Given the description of an element on the screen output the (x, y) to click on. 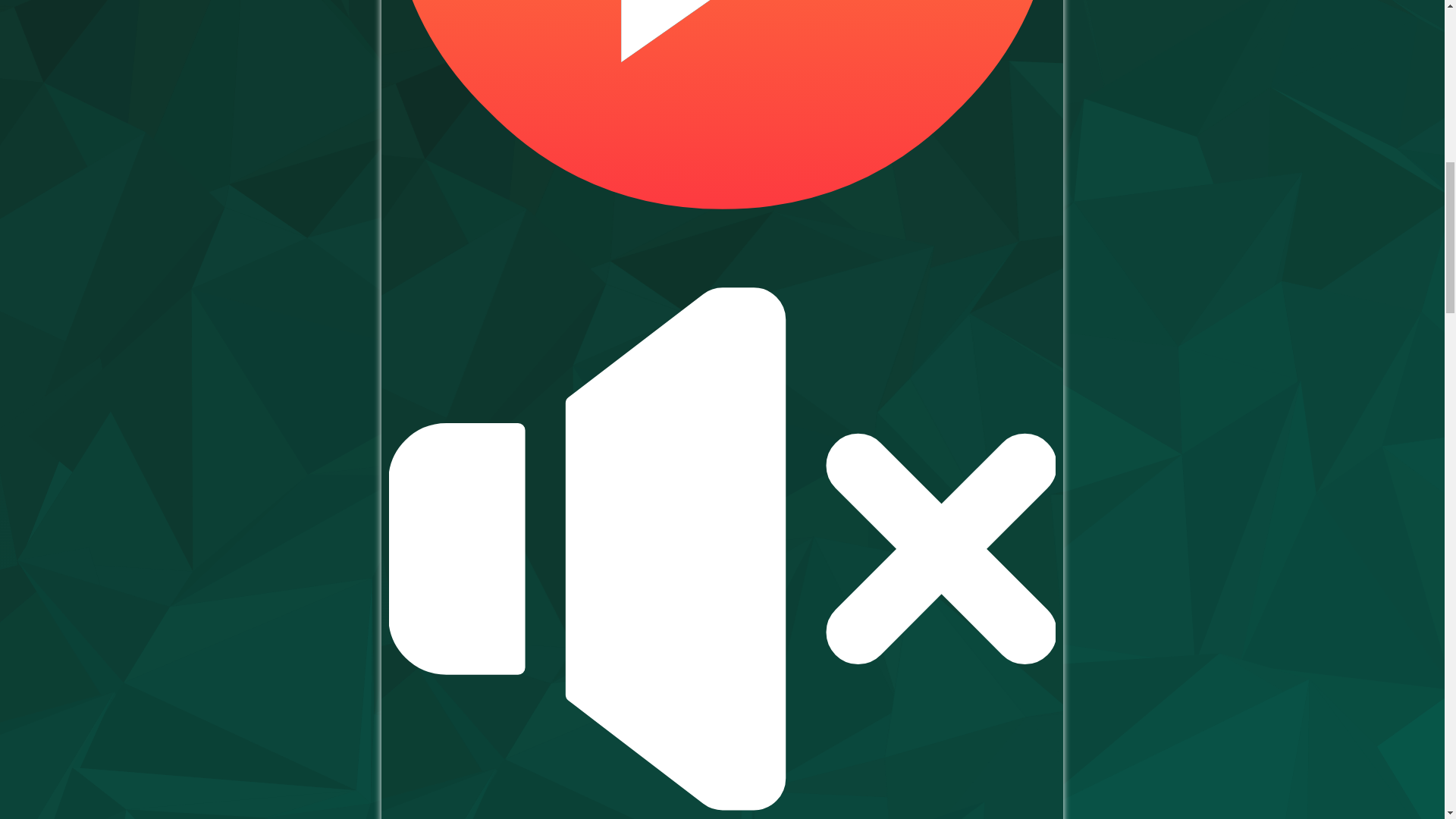
Advertisement (1326, 87)
Advertisement (117, 87)
